Given the description of an element on the screen output the (x, y) to click on. 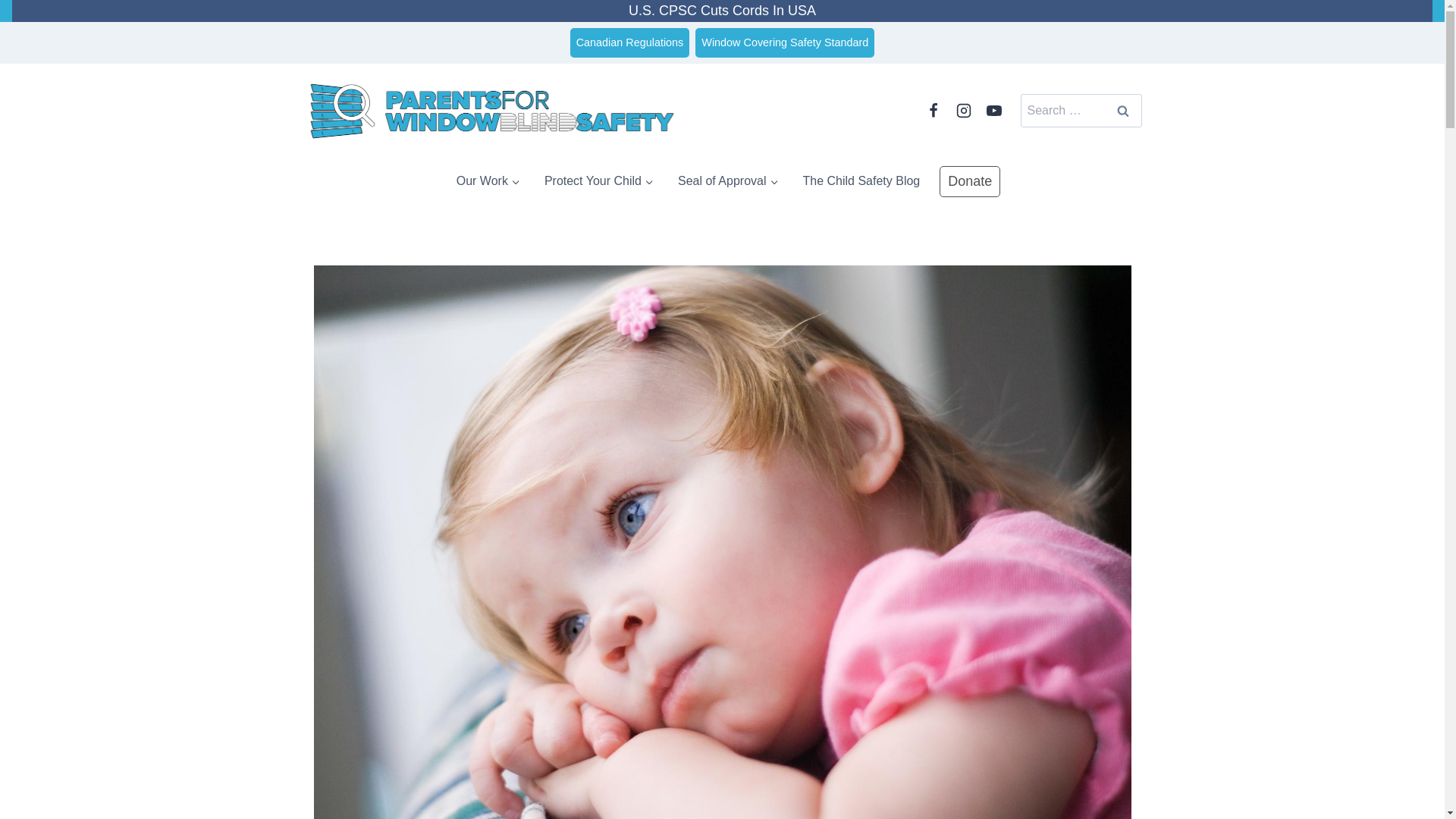
Search (1122, 110)
Canadian Regulations (630, 42)
U.S. CPSC Cuts Cords In USA (721, 11)
Seal of Approval (727, 181)
Donate (969, 181)
The Child Safety Blog (860, 181)
Protect Your Child (598, 181)
Window Covering Safety Standard (785, 42)
Search (1122, 110)
Search (1122, 110)
